Given the description of an element on the screen output the (x, y) to click on. 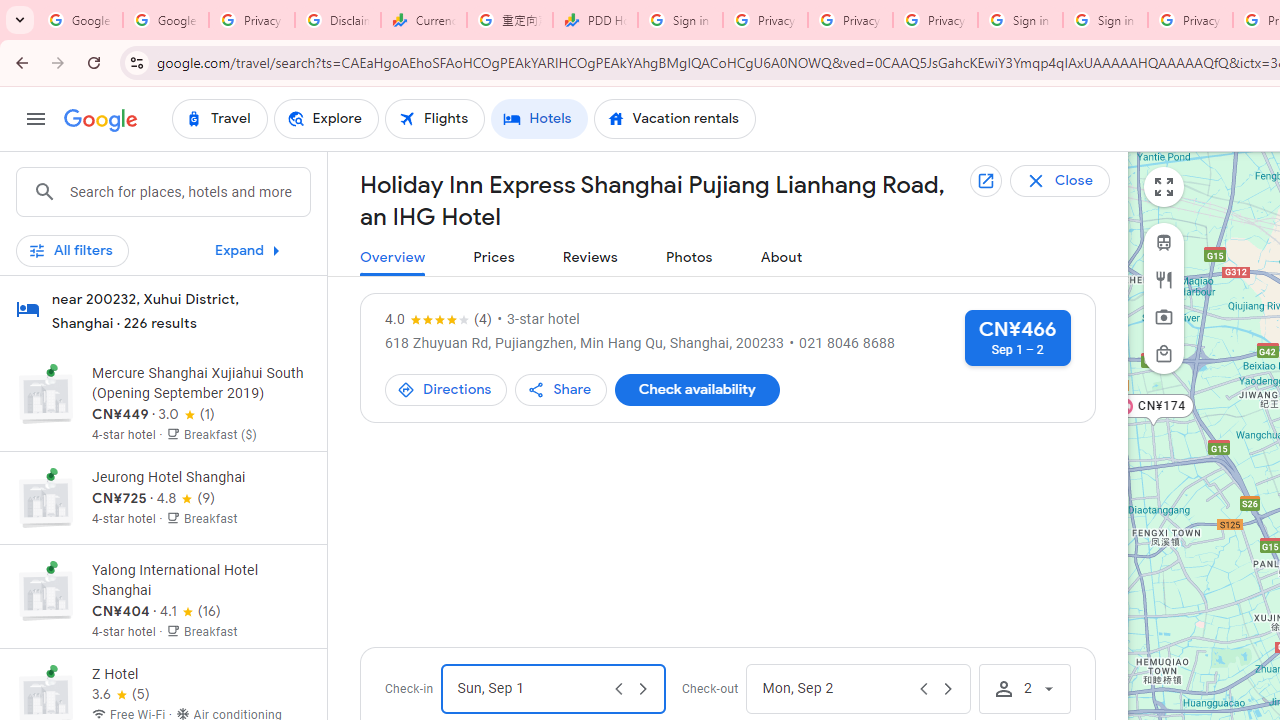
Sign in - Google Accounts (1105, 20)
4.8 out of 5 stars from 9 reviews (185, 498)
Privacy Checkup (850, 20)
Photos (688, 258)
Back to list of all results (1075, 180)
4 out of 5 stars from 4 reviews (438, 319)
3.6 out of 5 stars from 5 reviews (120, 694)
Search for places, hotels and more (189, 191)
